Given the description of an element on the screen output the (x, y) to click on. 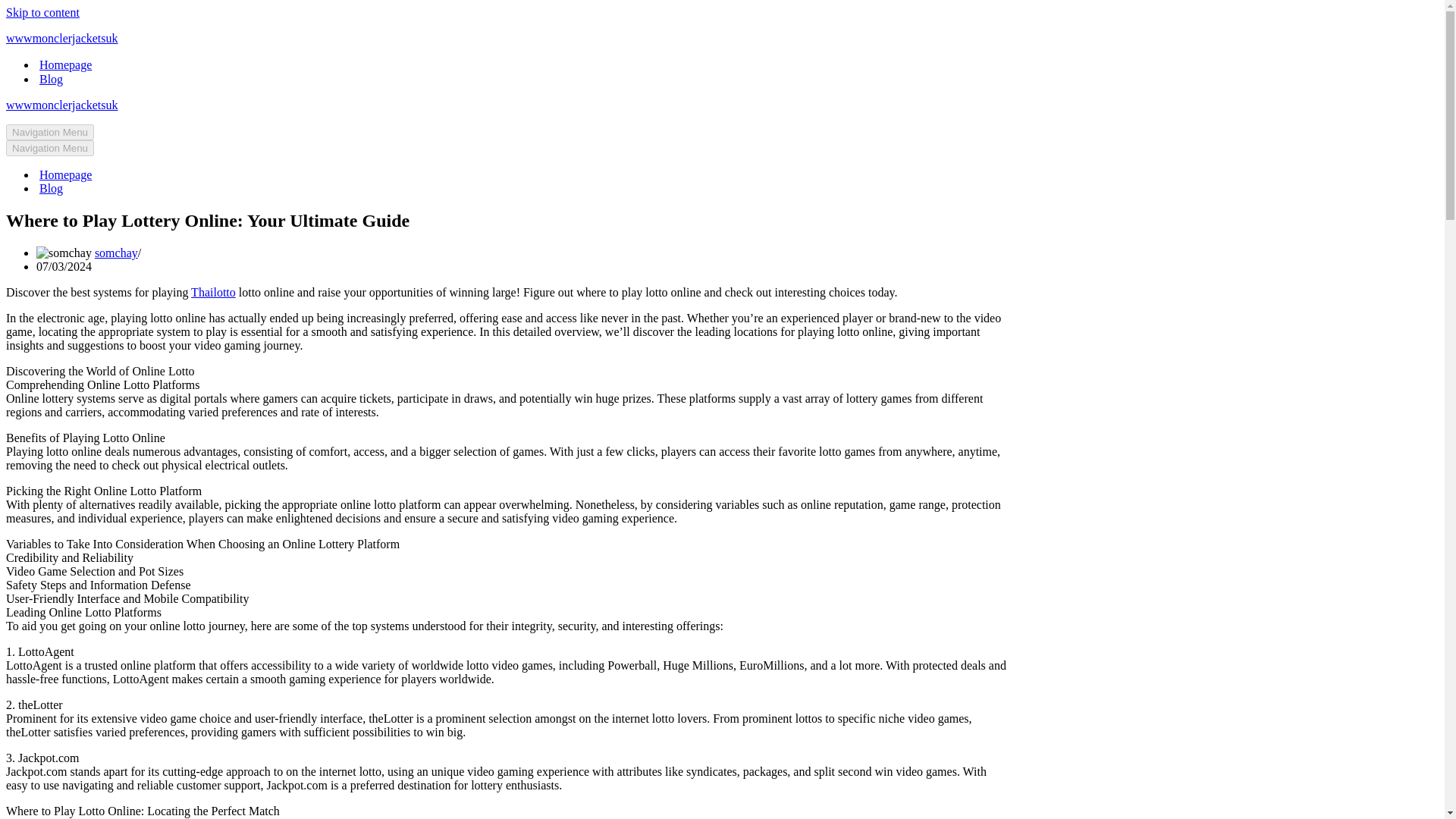
Posts by somchay (116, 252)
Thailotto (212, 291)
Navigation Menu (49, 148)
Navigation Menu (49, 132)
somchay (116, 252)
Blog (50, 188)
Homepage (65, 174)
Blog (50, 79)
Homepage (65, 64)
Skip to content (42, 11)
